Given the description of an element on the screen output the (x, y) to click on. 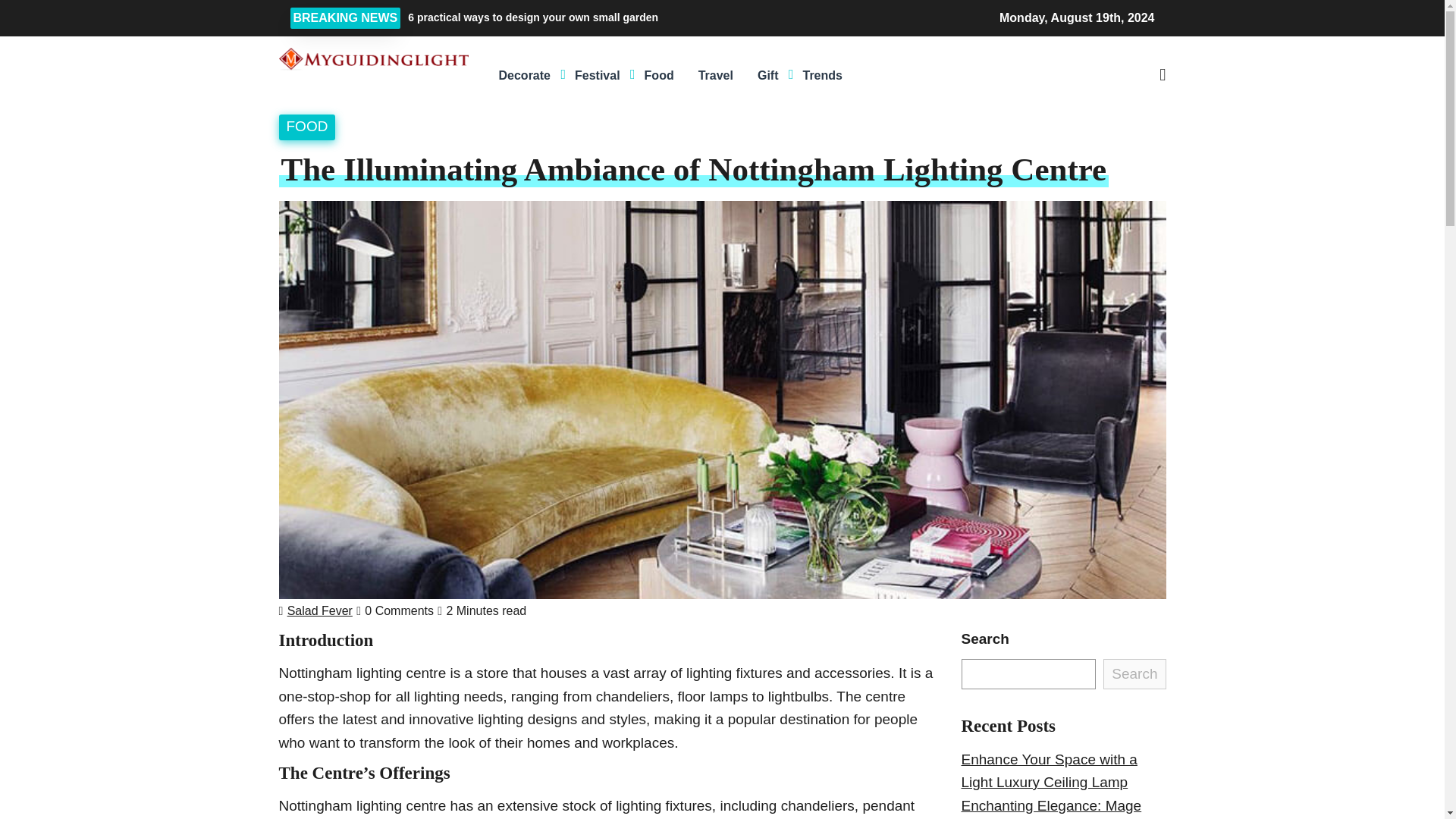
6 practical ways to design your own small garden (637, 17)
Festival (596, 75)
Decorate (524, 75)
Food (658, 75)
Travel (715, 75)
